Given the description of an element on the screen output the (x, y) to click on. 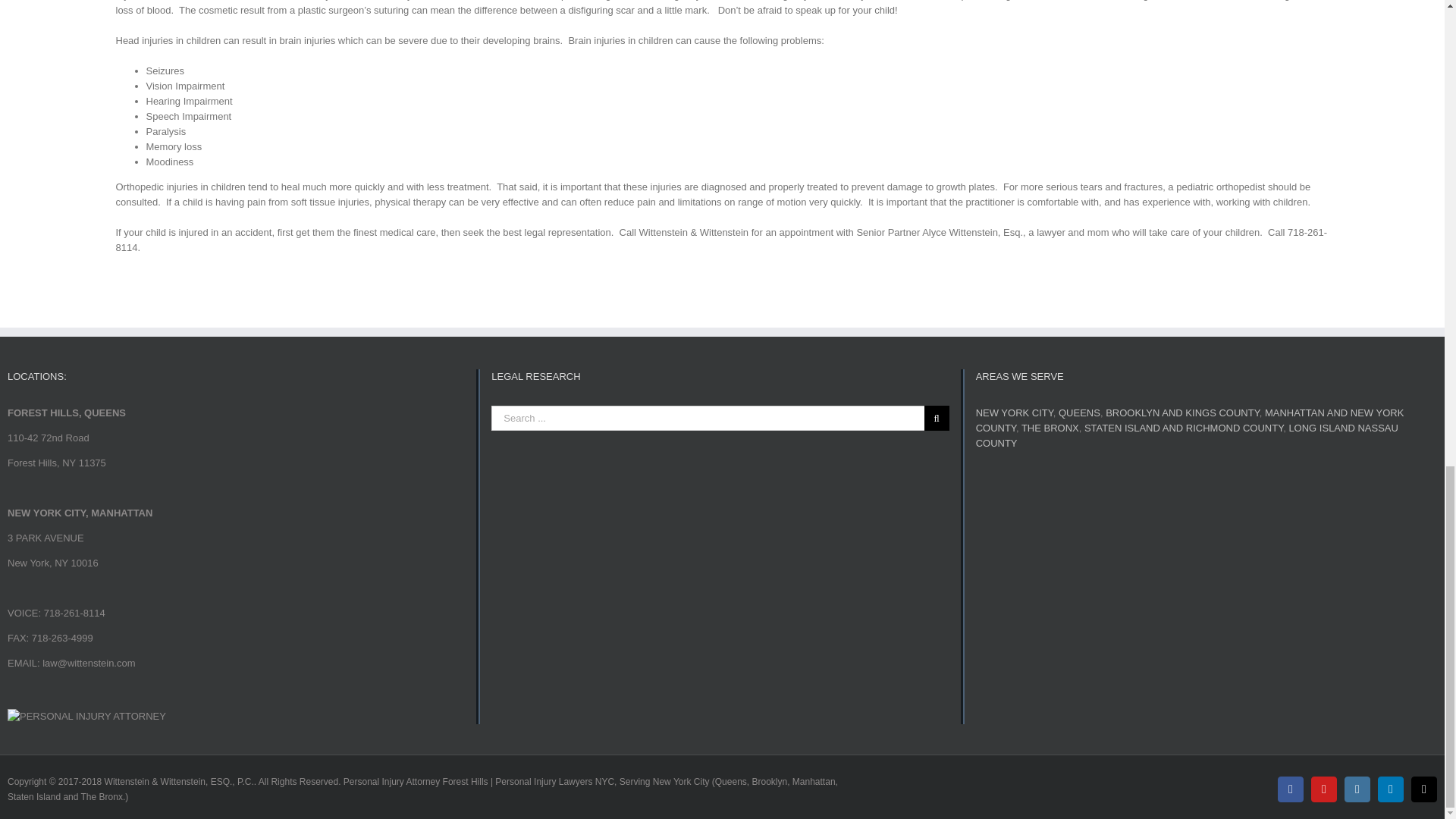
Facebook (1290, 789)
Instagram (1356, 789)
YouTube (1323, 789)
LinkedIn (1390, 789)
